Given the description of an element on the screen output the (x, y) to click on. 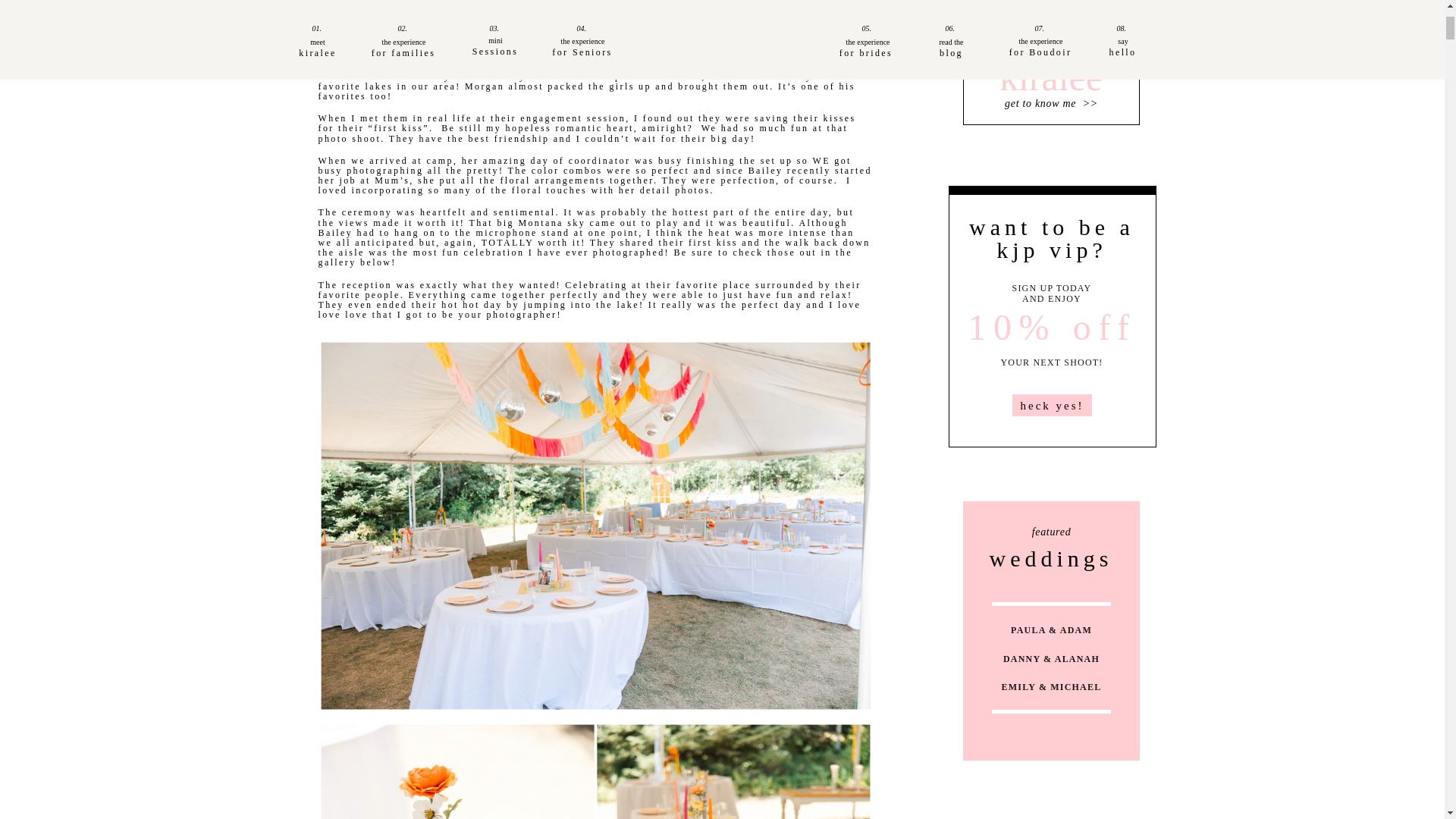
featured (1051, 530)
heck yes! (1051, 405)
